Given the description of an element on the screen output the (x, y) to click on. 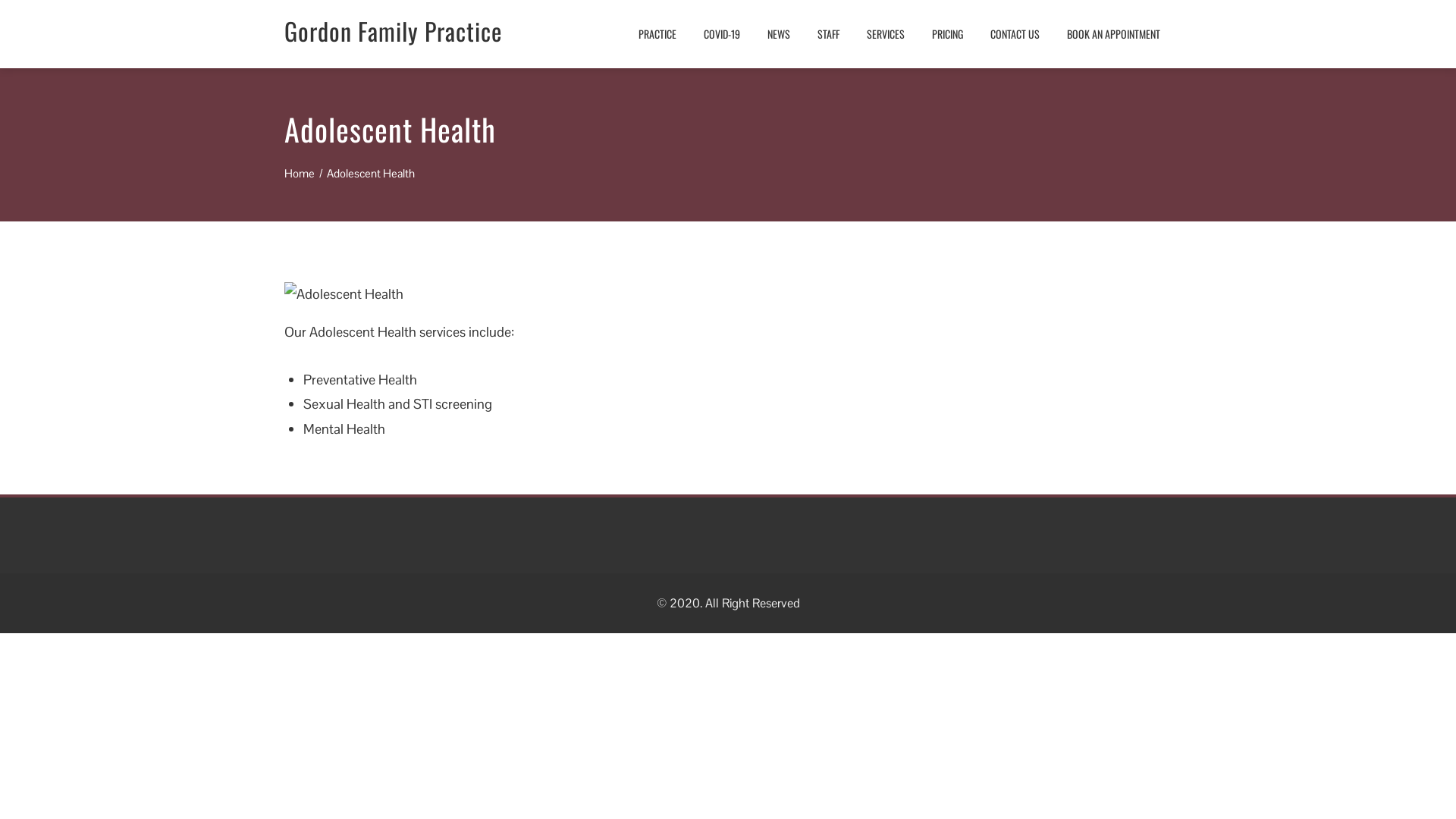
CONTACT US Element type: text (1015, 34)
Home Element type: text (299, 173)
PRICING Element type: text (947, 34)
COVID-19 Element type: text (721, 34)
STAFF Element type: text (828, 34)
NEWS Element type: text (778, 34)
SERVICES Element type: text (885, 34)
BOOK AN APPOINTMENT Element type: text (1113, 34)
PRACTICE Element type: text (657, 34)
Gordon Family Practice Element type: text (393, 30)
